Given the description of an element on the screen output the (x, y) to click on. 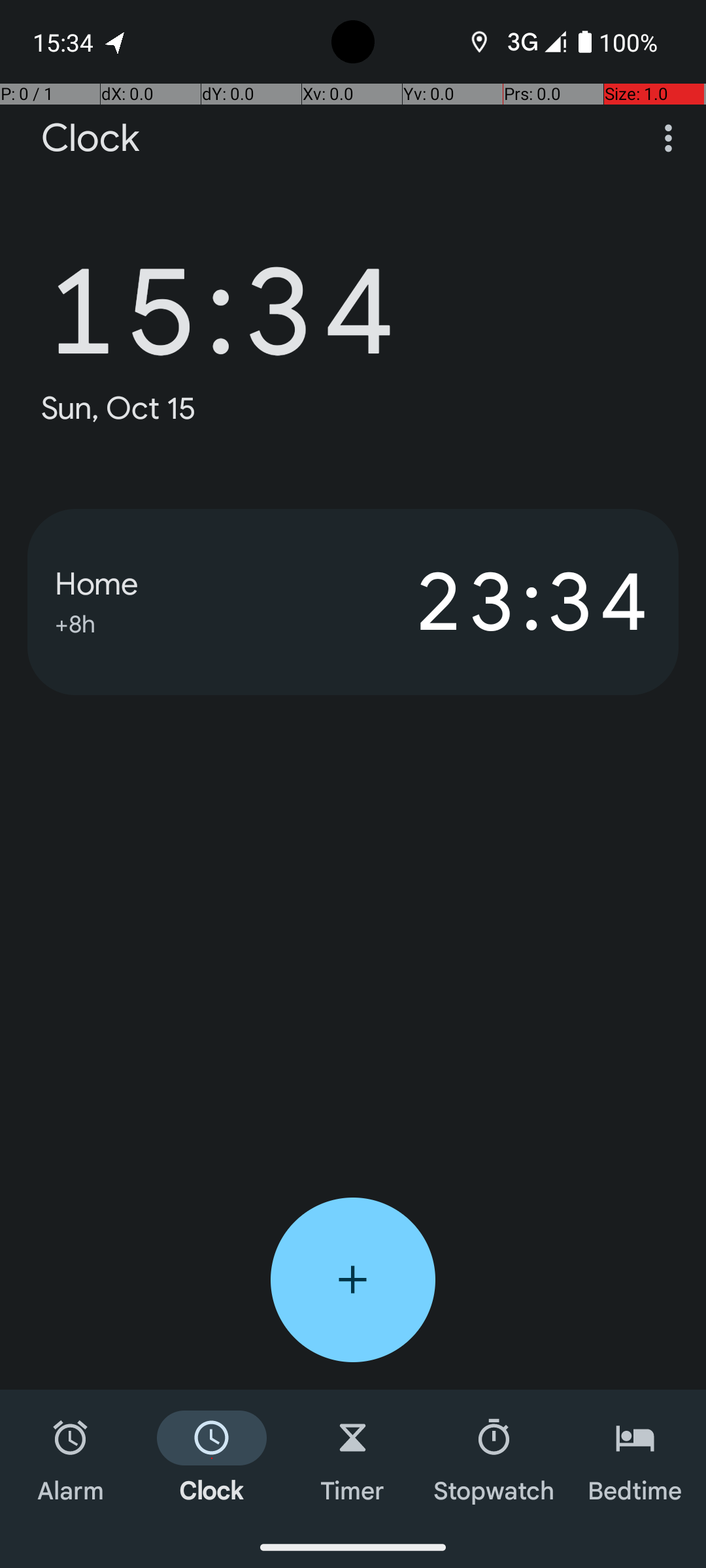
Add city Element type: android.widget.Button (352, 1279)
Sun, Oct 15 Element type: android.widget.TextView (118, 407)
+8h Element type: android.widget.TextView (74, 621)
23:34 Element type: android.widget.TextView (502, 601)
OpenTracks notification: Distance: 0.00 ft Element type: android.widget.ImageView (115, 41)
